Given the description of an element on the screen output the (x, y) to click on. 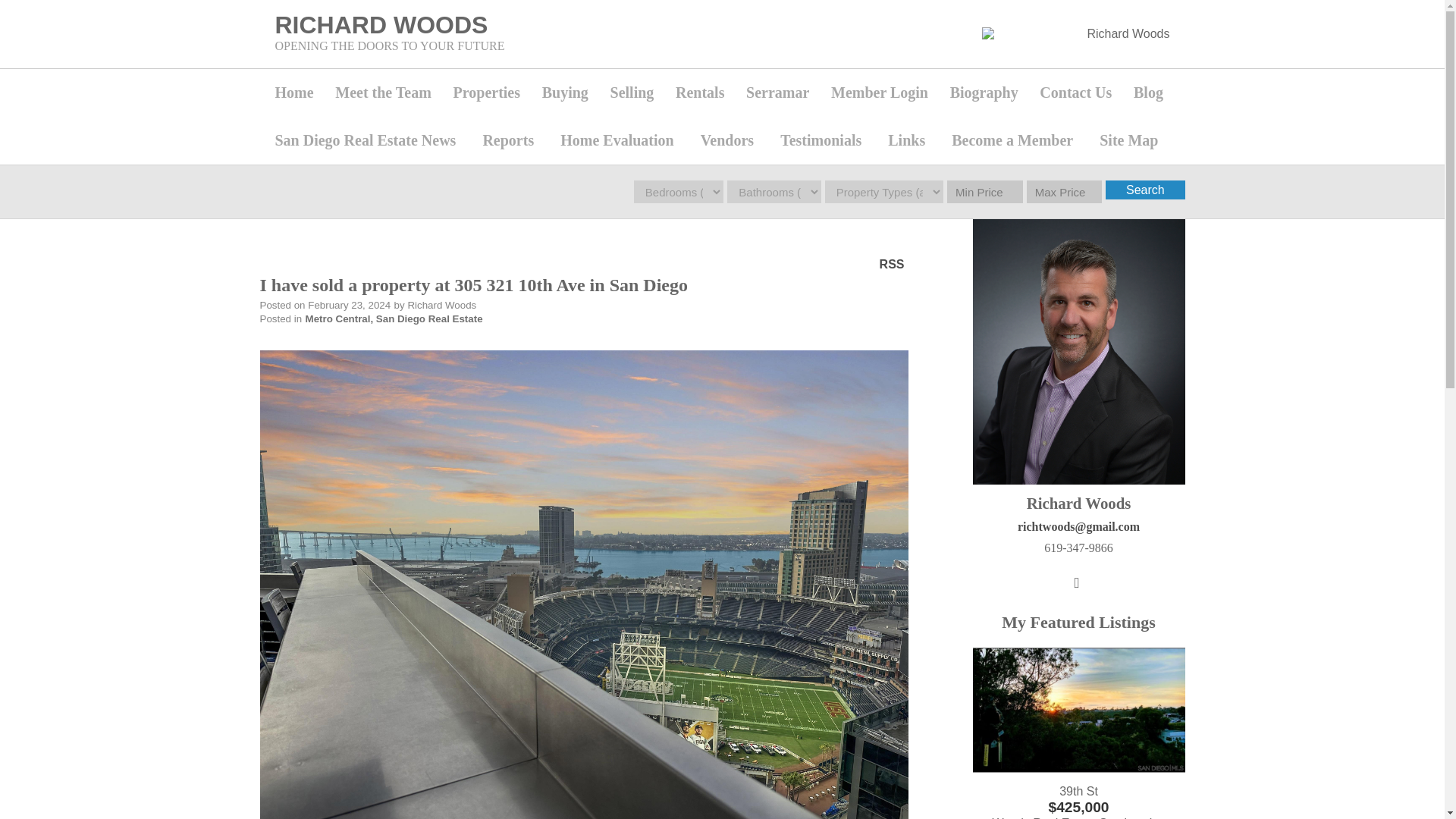
Site Map (1134, 140)
Reports (513, 140)
Links (911, 140)
Buying (568, 92)
Metro Central, San Diego Real Estate (394, 318)
Meet the Team (386, 92)
Contact Us (1078, 92)
Member Login (883, 92)
Serramar (781, 92)
Rentals (703, 92)
Become a Member (1017, 140)
Properties (489, 92)
Selling (635, 92)
San Diego Real Estate News (370, 140)
Blog (1151, 92)
